Given the description of an element on the screen output the (x, y) to click on. 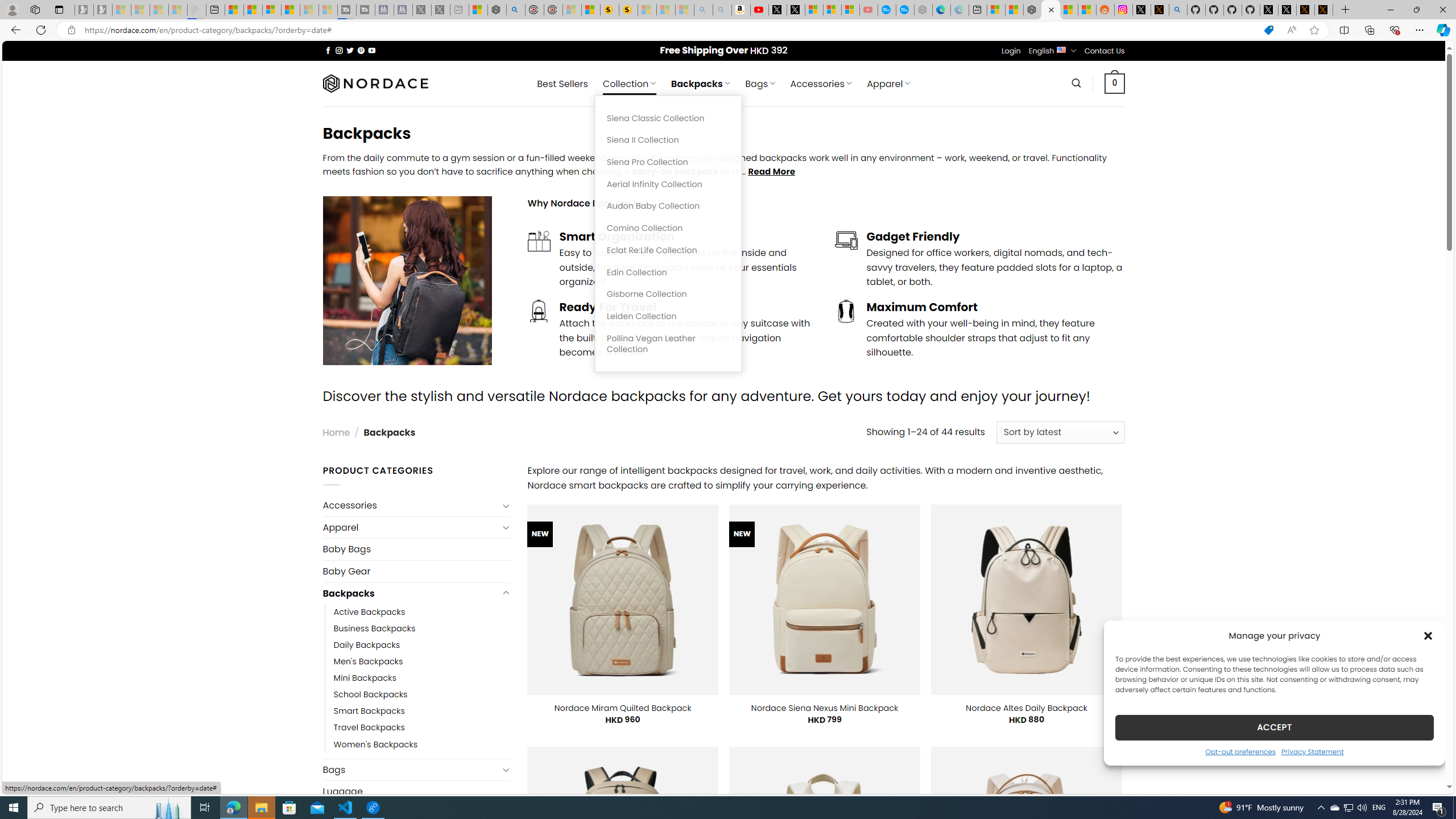
Baby Bags (416, 549)
Pollina Vegan Leather Collection (668, 343)
Nordace Siena Nexus Mini Backpack (824, 708)
Tab actions menu (58, 9)
Business Backpacks (374, 628)
Aerial Infinity Collection (668, 183)
Siena Pro Collection (668, 162)
Address and search bar (669, 29)
ACCEPT (1274, 727)
Wildlife - MSN (478, 9)
Search (1076, 83)
Microsoft Start - Sleeping (309, 9)
